Given the description of an element on the screen output the (x, y) to click on. 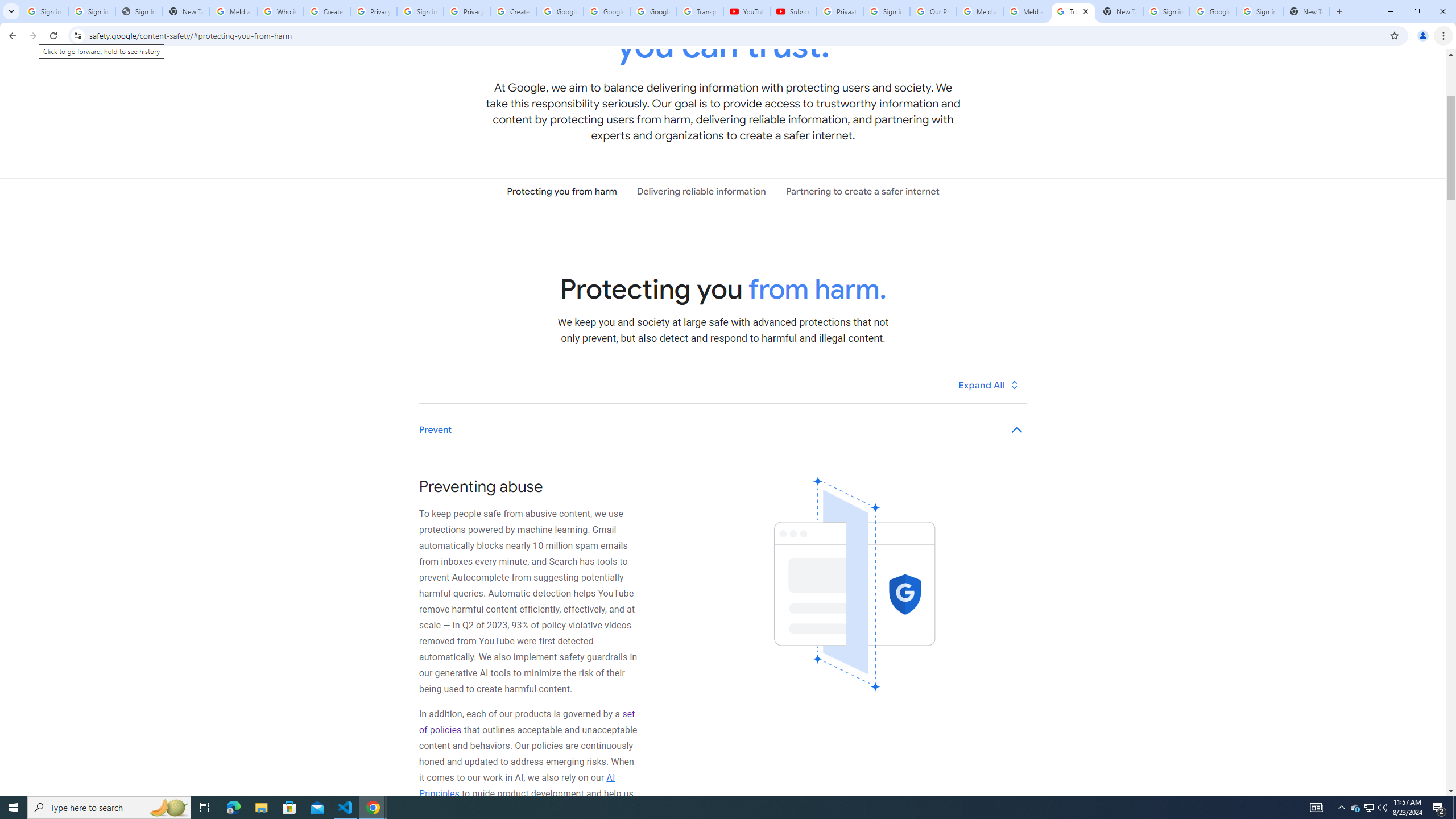
set of policies (526, 721)
Subscriptions - YouTube (792, 11)
